Given the description of an element on the screen output the (x, y) to click on. 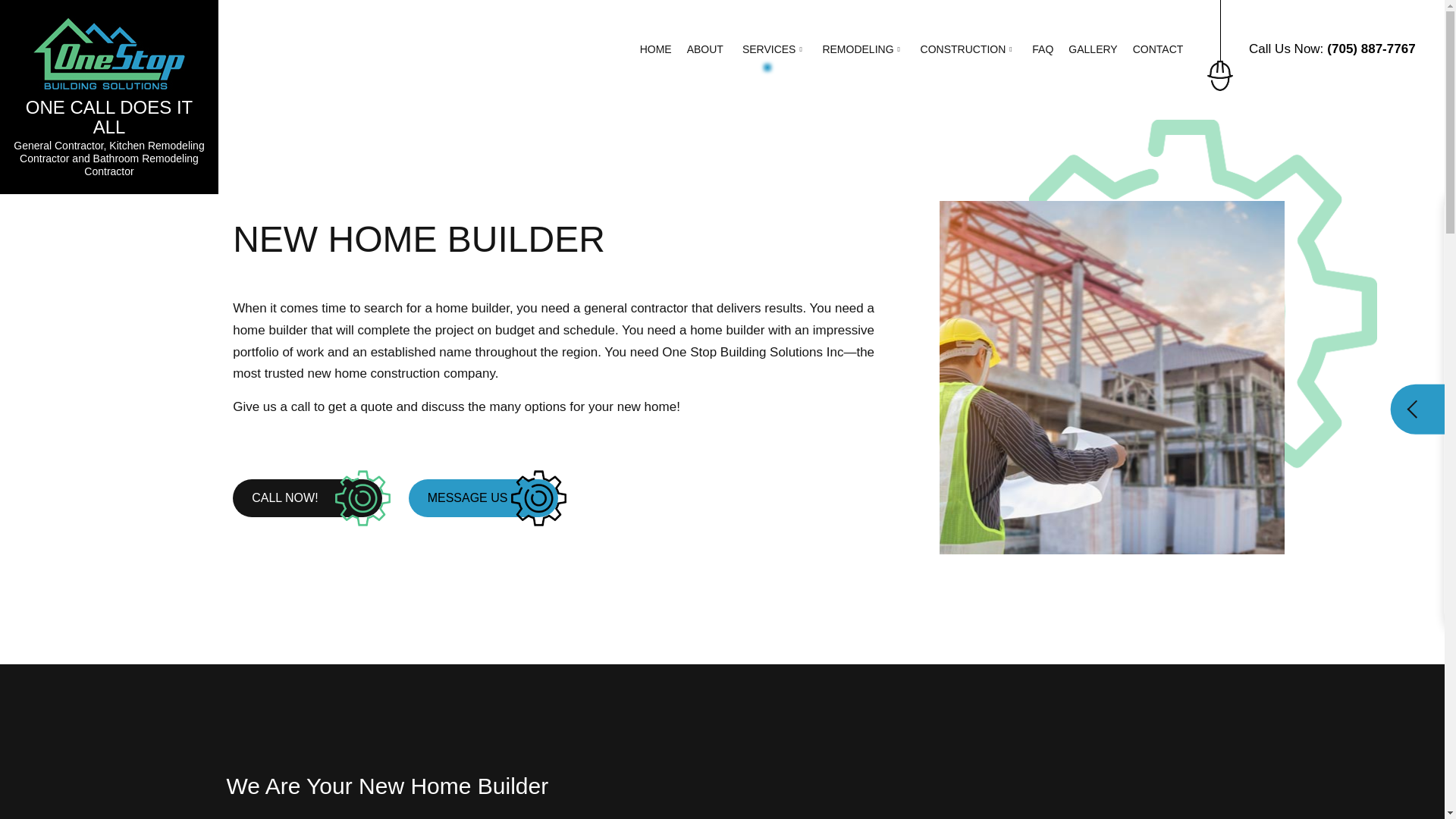
Send us a message (483, 497)
One Stop Building Solutions Inc (108, 50)
One Stop Building Solutions Inc (109, 117)
